Given the description of an element on the screen output the (x, y) to click on. 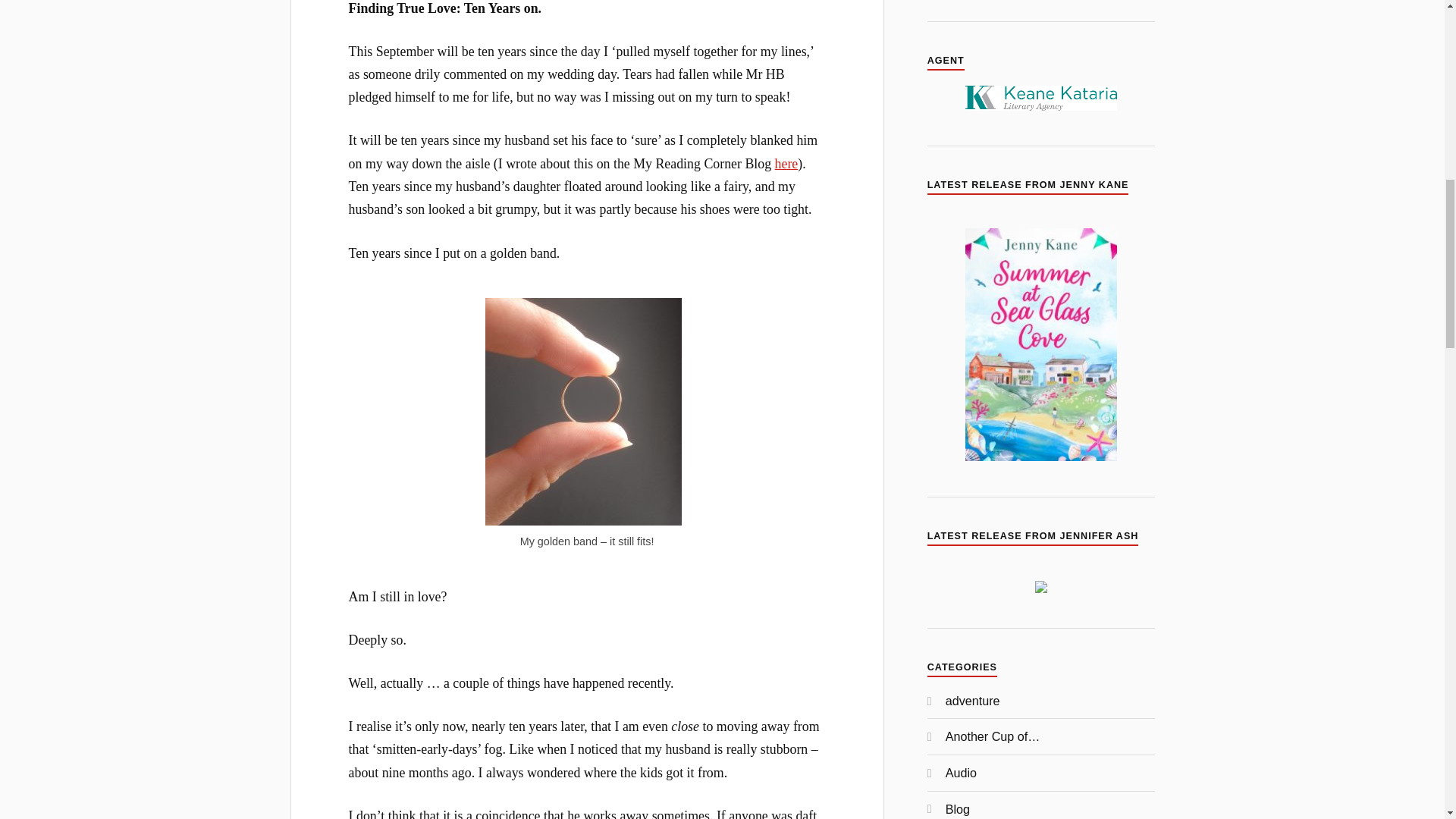
here (785, 163)
